Given the description of an element on the screen output the (x, y) to click on. 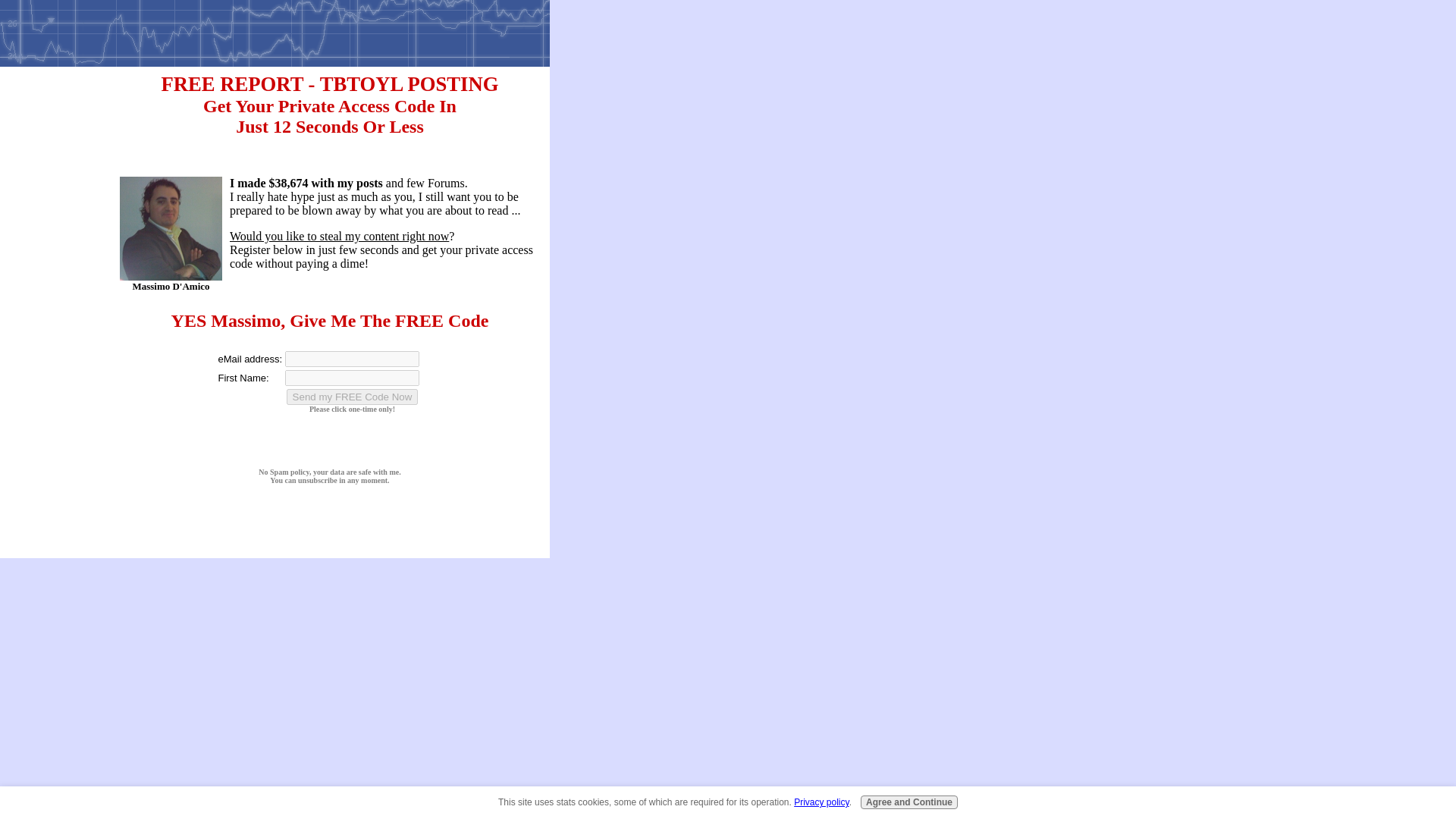
Send my FREE Code Now (352, 396)
Agree and Continue (909, 802)
Send my FREE Code Now (352, 396)
Privacy policy (820, 801)
